Given the description of an element on the screen output the (x, y) to click on. 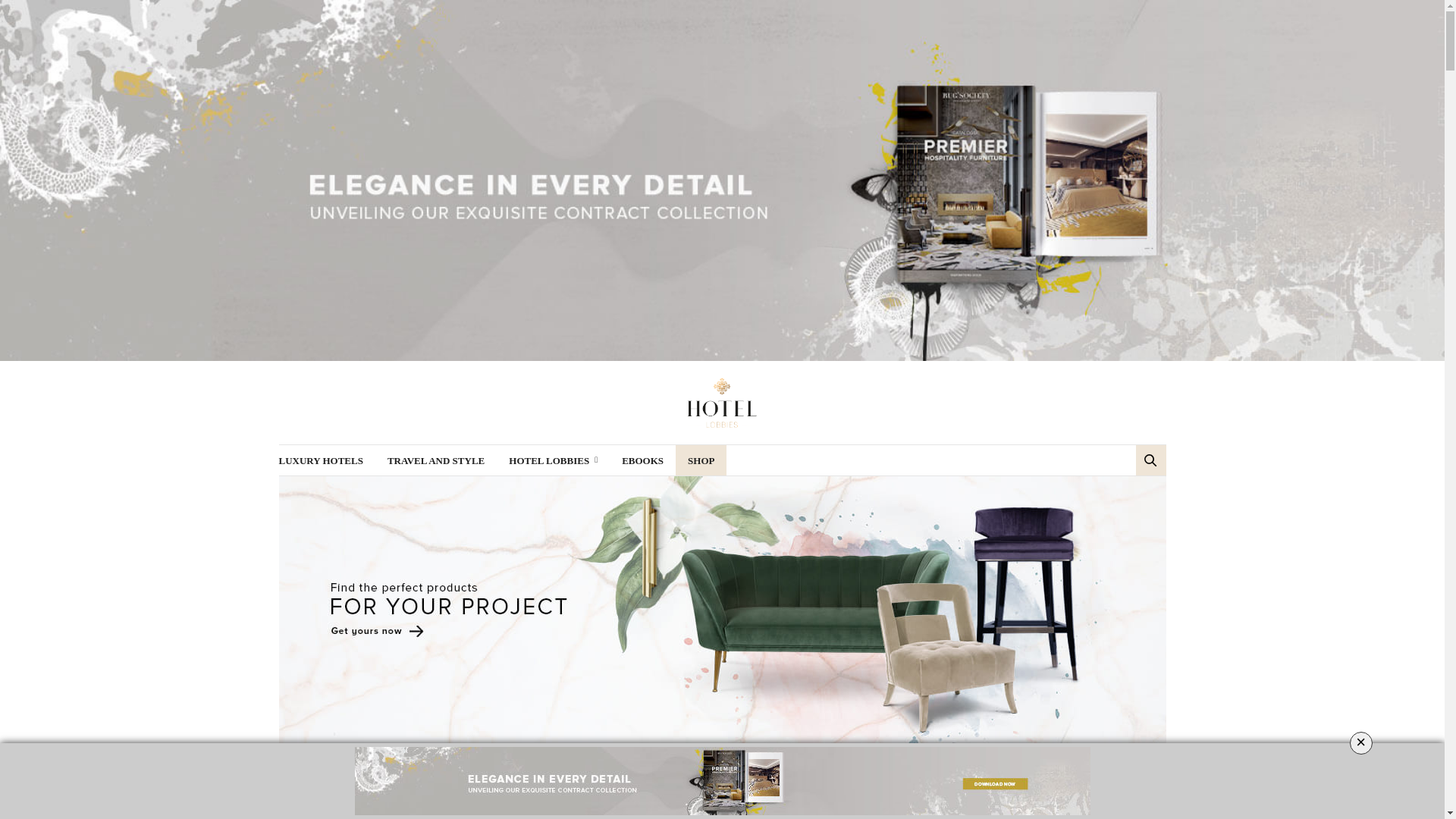
Hotel Lobbies (722, 402)
LUXURY HOTELS (320, 460)
